Given the description of an element on the screen output the (x, y) to click on. 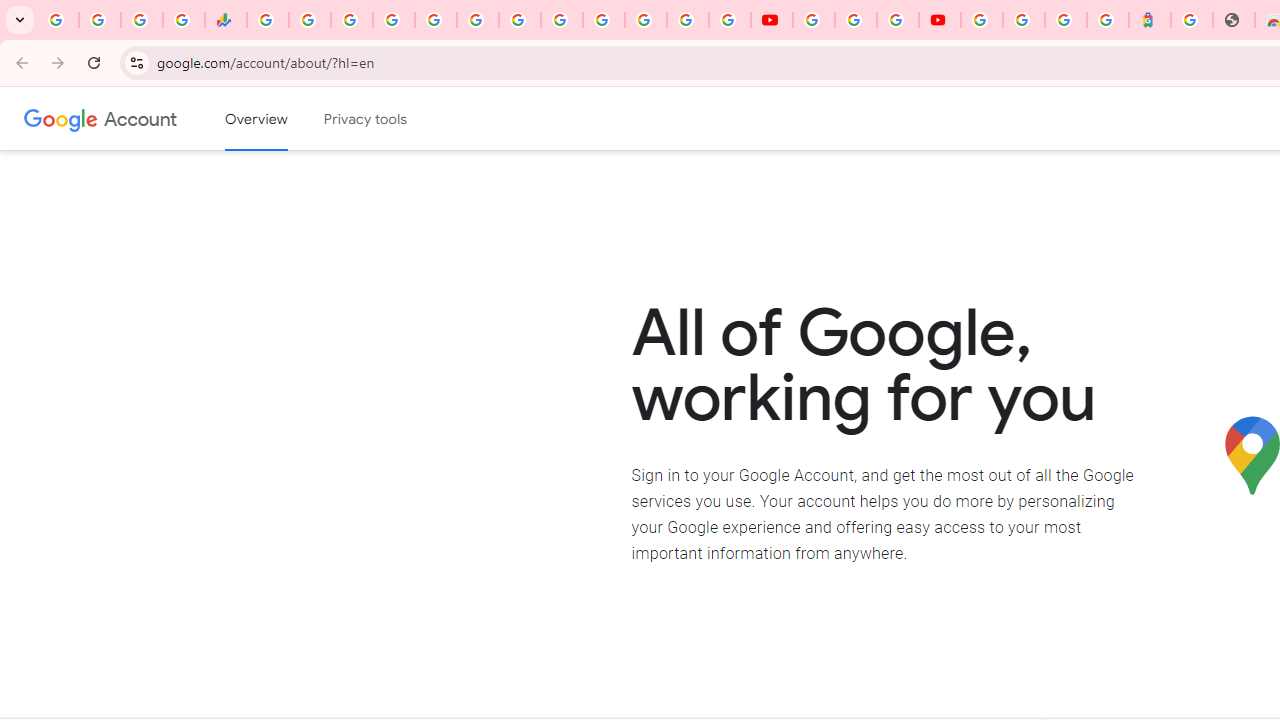
YouTube (561, 20)
Google Workspace Admin Community (58, 20)
Google Account Help (855, 20)
Skip to Content (285, 115)
Atour Hotel - Google hotels (1150, 20)
Privacy tools (365, 119)
Google Account overview (256, 119)
